Given the description of an element on the screen output the (x, y) to click on. 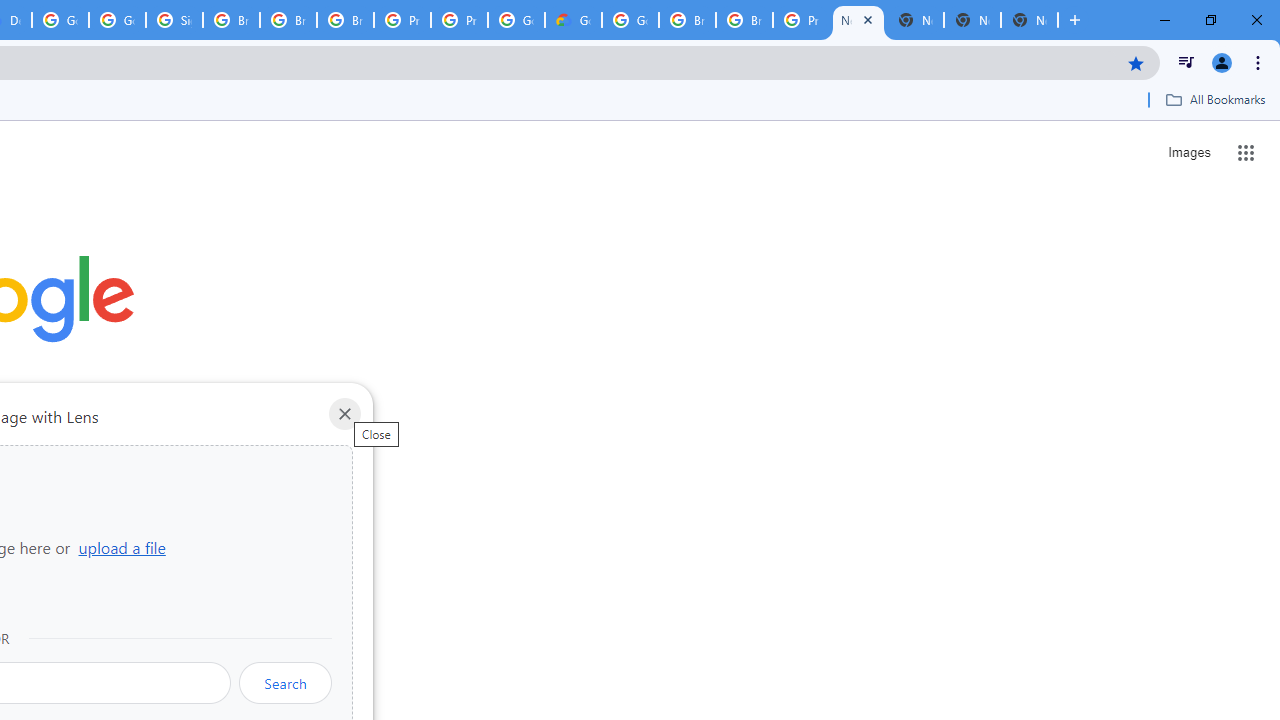
Google Cloud Platform (516, 20)
Google Cloud Platform (60, 20)
Sign in - Google Accounts (174, 20)
Search (285, 682)
Google apps (1245, 152)
Browse Chrome as a guest - Computer - Google Chrome Help (231, 20)
Browse Chrome as a guest - Computer - Google Chrome Help (744, 20)
upload a file (122, 547)
Browse Chrome as a guest - Computer - Google Chrome Help (345, 20)
Google Cloud Estimate Summary (573, 20)
Browse Chrome as a guest - Computer - Google Chrome Help (288, 20)
Search for Images  (1188, 152)
